Given the description of an element on the screen output the (x, y) to click on. 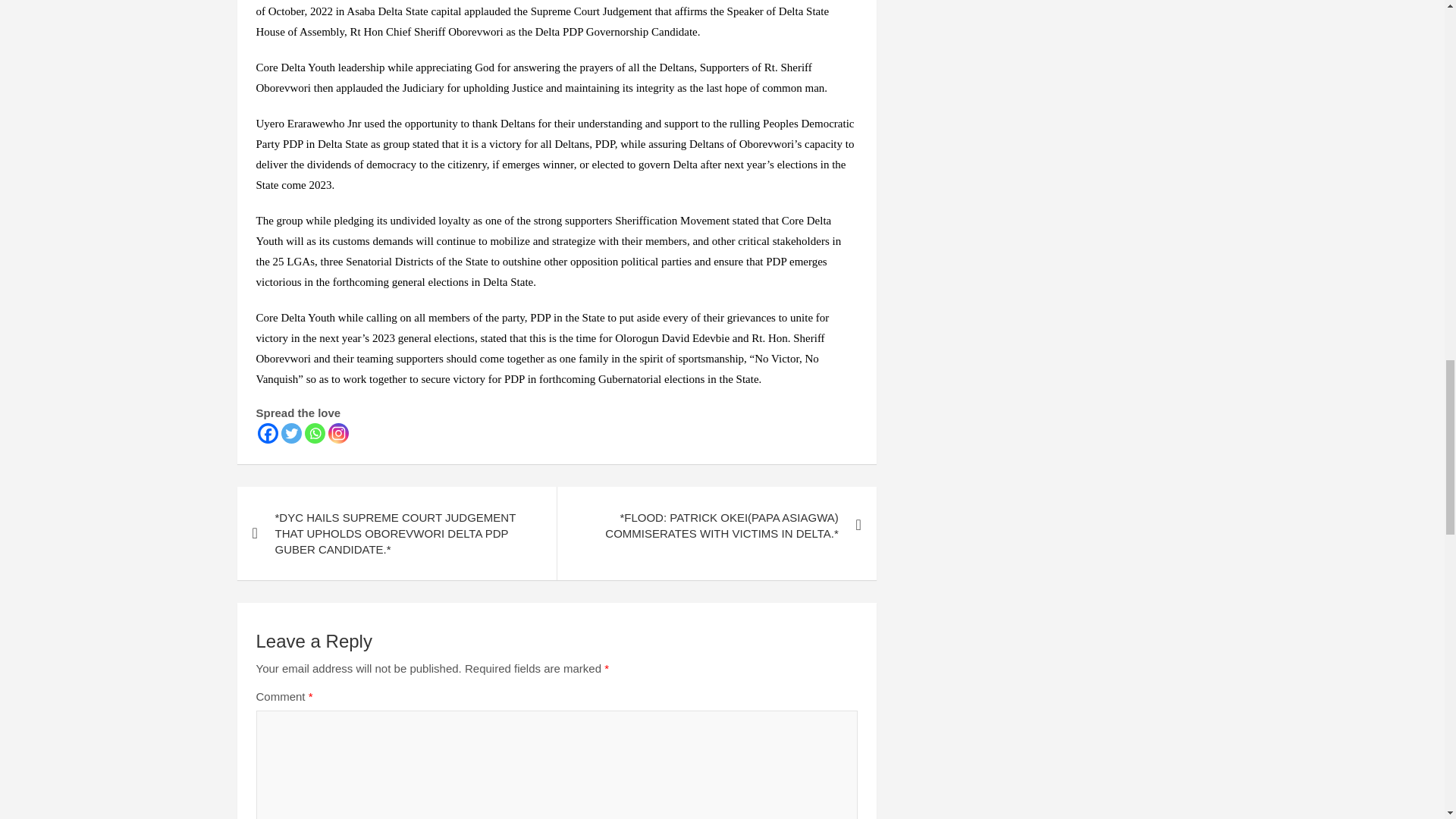
Instagram (337, 433)
Whatsapp (314, 433)
Facebook (267, 433)
Twitter (291, 433)
